Given the description of an element on the screen output the (x, y) to click on. 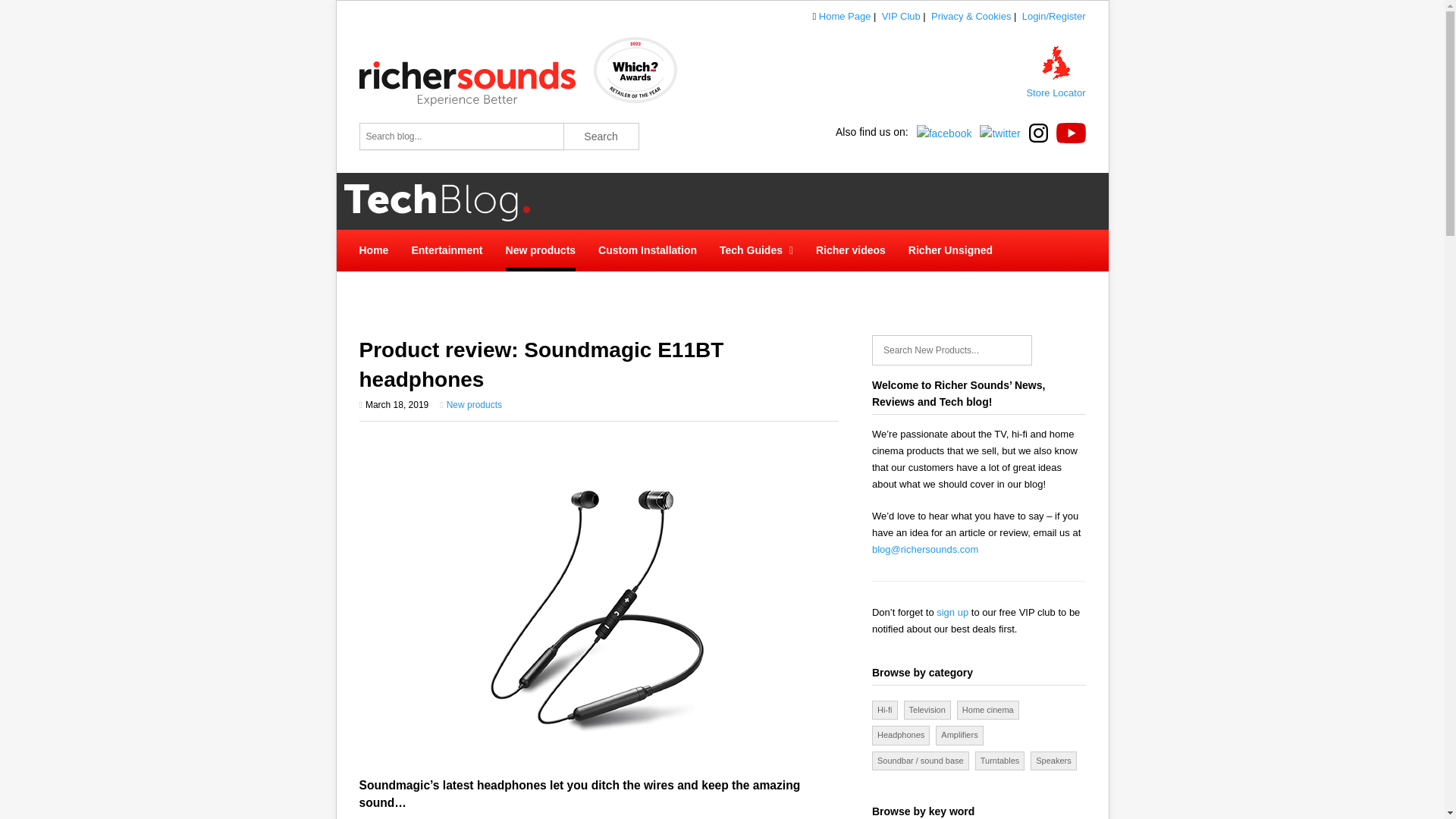
Richer Unsigned (950, 250)
New products (474, 404)
Return to Richer Sounds homepage (475, 102)
Tech Guides (756, 250)
Which (635, 102)
instagram (1035, 132)
Televisions (927, 710)
Store Locator (1055, 92)
Home Page (844, 16)
facebook (941, 132)
Entertainment (445, 250)
VIP Club (901, 16)
Search (600, 135)
twitter (997, 132)
Richer videos (850, 250)
